Given the description of an element on the screen output the (x, y) to click on. 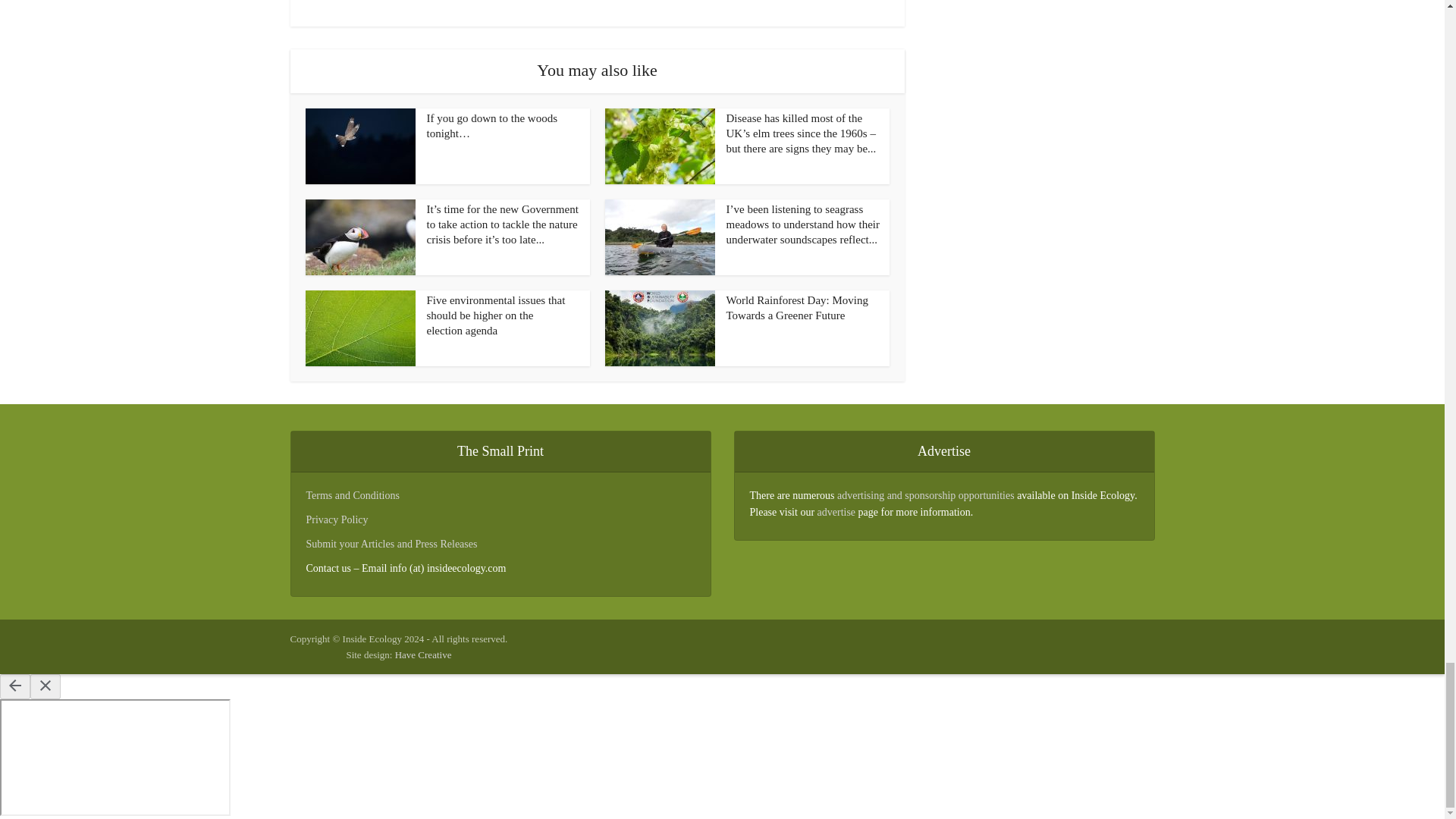
World Rainforest Day: Moving Towards a Greener Future (797, 307)
